Given the description of an element on the screen output the (x, y) to click on. 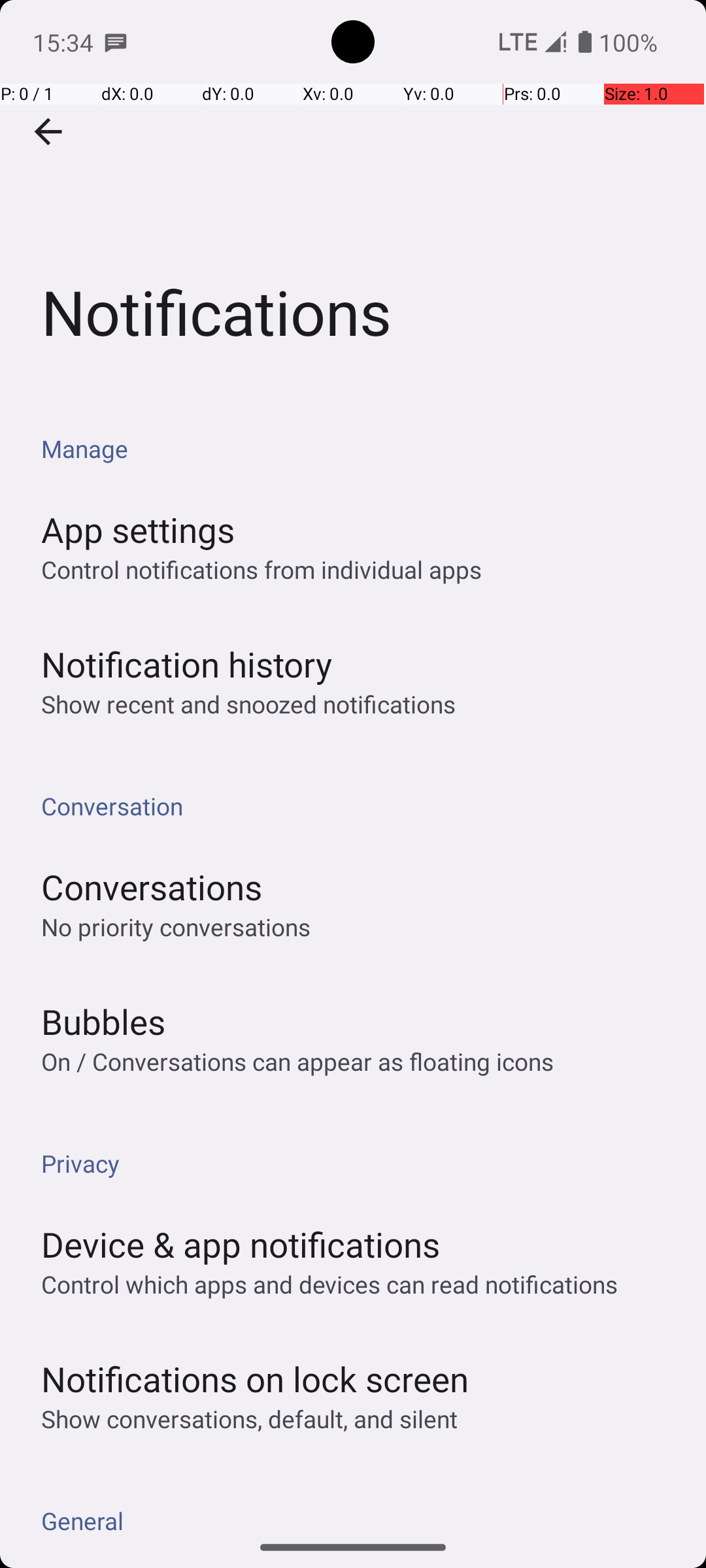
Show conversations, default, and silent Element type: android.widget.TextView (249, 1418)
